Given the description of an element on the screen output the (x, y) to click on. 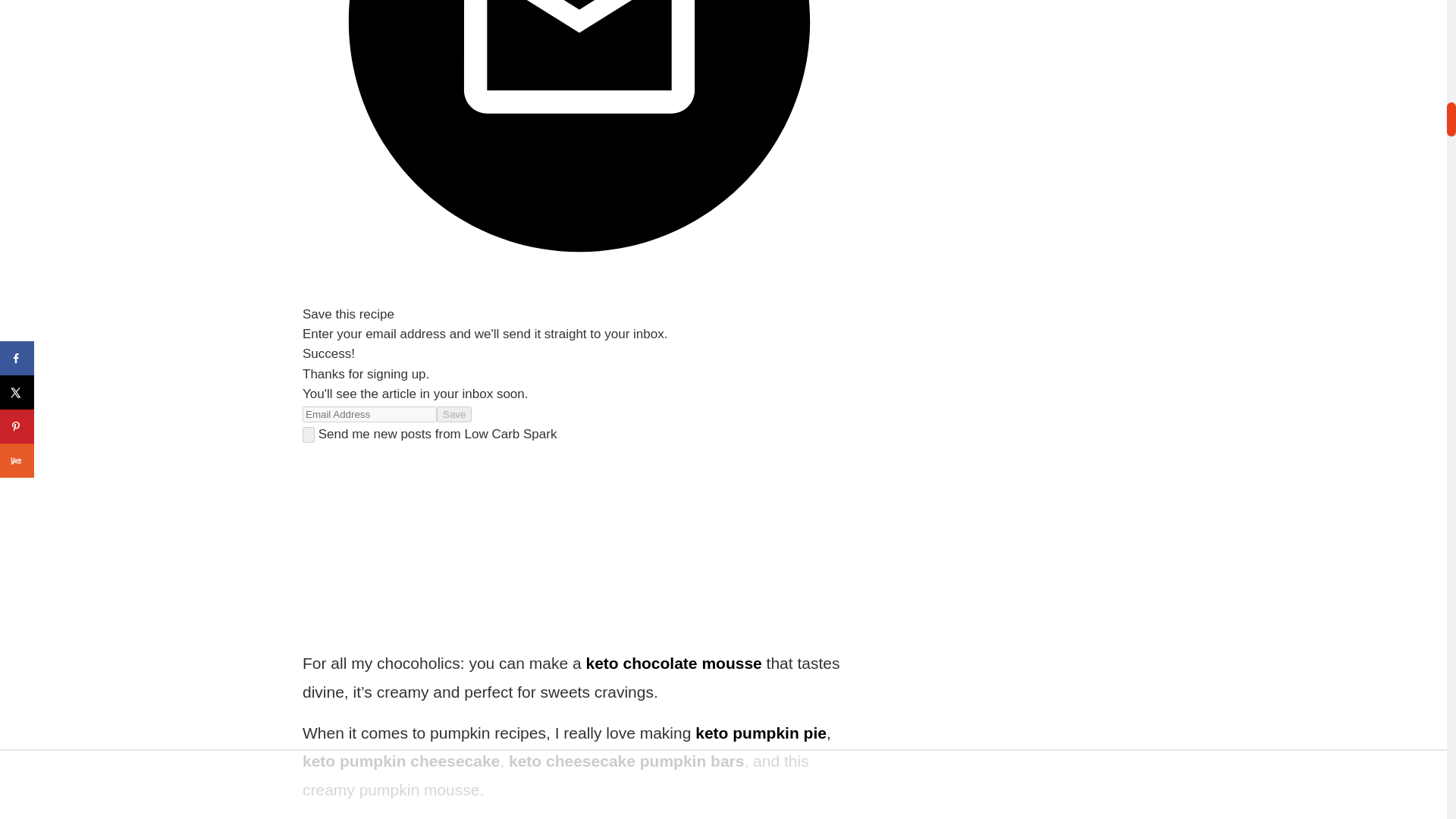
keto pumpkin pie (761, 732)
keto chocolate mousse (673, 662)
